Given the description of an element on the screen output the (x, y) to click on. 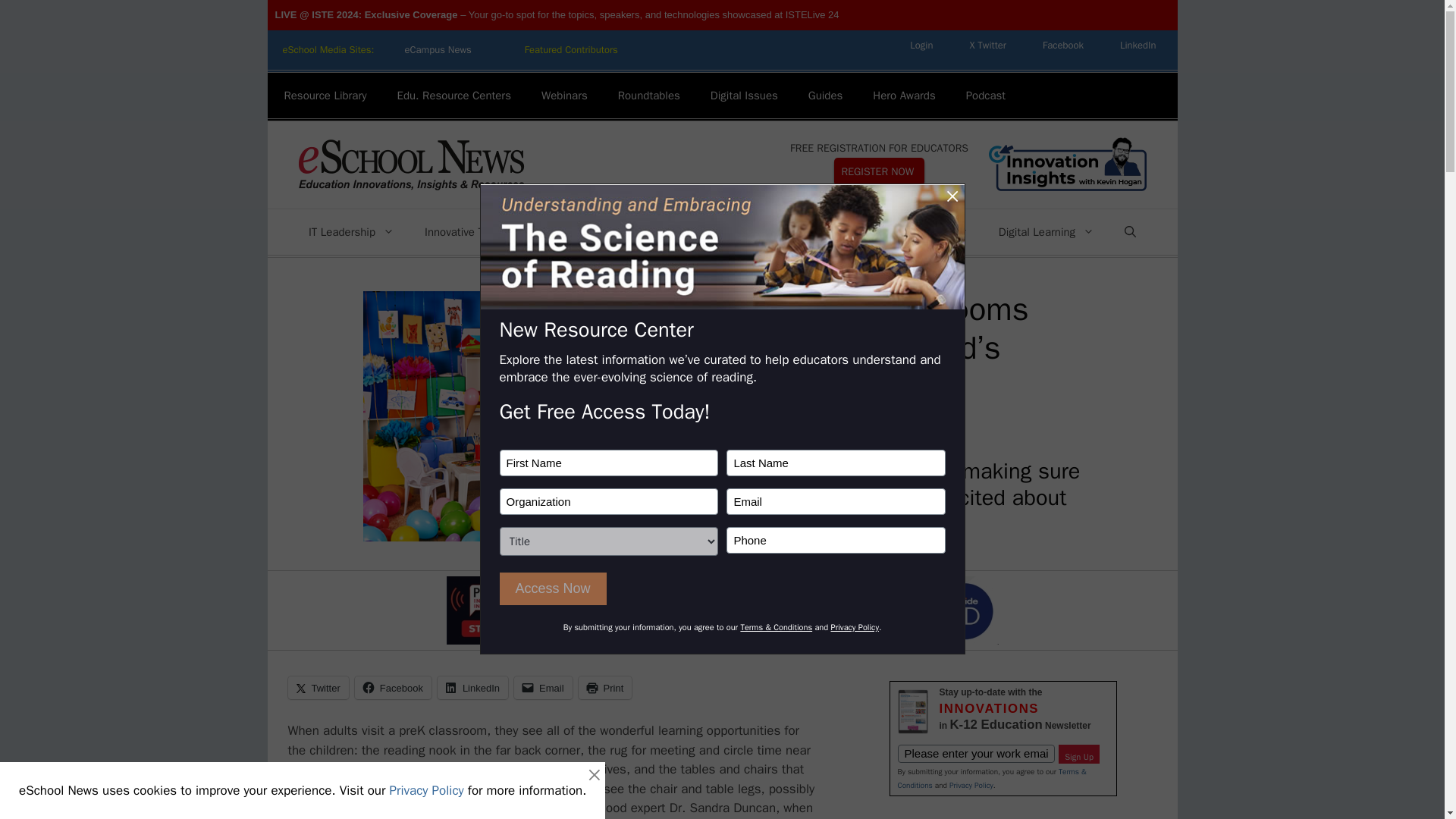
eCampus News (437, 50)
LinkedIn (1138, 45)
Click to share on LinkedIn (473, 687)
Hero Awards (903, 94)
Access Now (552, 588)
Twitter (987, 45)
View all posts by Stacey Pusey (759, 429)
LinkedIn (1138, 45)
Login (921, 45)
Roundtables (648, 94)
Podcast (985, 94)
REGISTER NOW  (879, 171)
Featured Contributors (571, 50)
eSchool Media Sites: (327, 50)
eCampus News (437, 50)
